Given the description of an element on the screen output the (x, y) to click on. 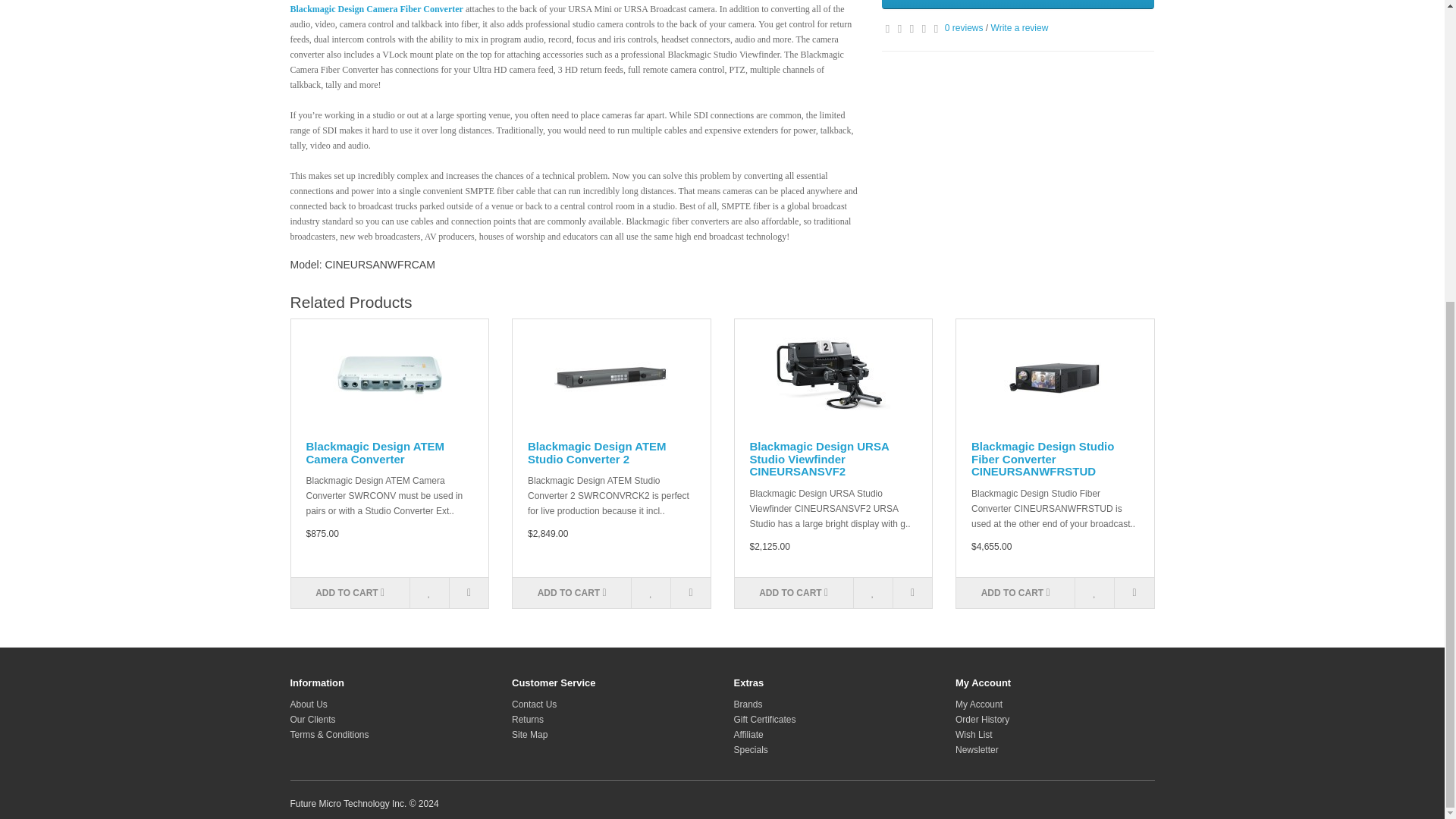
Blackmagic Design ATEM Studio Converter 2 (611, 376)
Blackmagic Design URSA Studio Viewfinder CINEURSANSVF2 (832, 376)
Blackmagic Design Studio Fiber Converter CINEURSANWFRSTUD (1054, 376)
Blackmagic Design ATEM Camera Converter (389, 376)
